Given the description of an element on the screen output the (x, y) to click on. 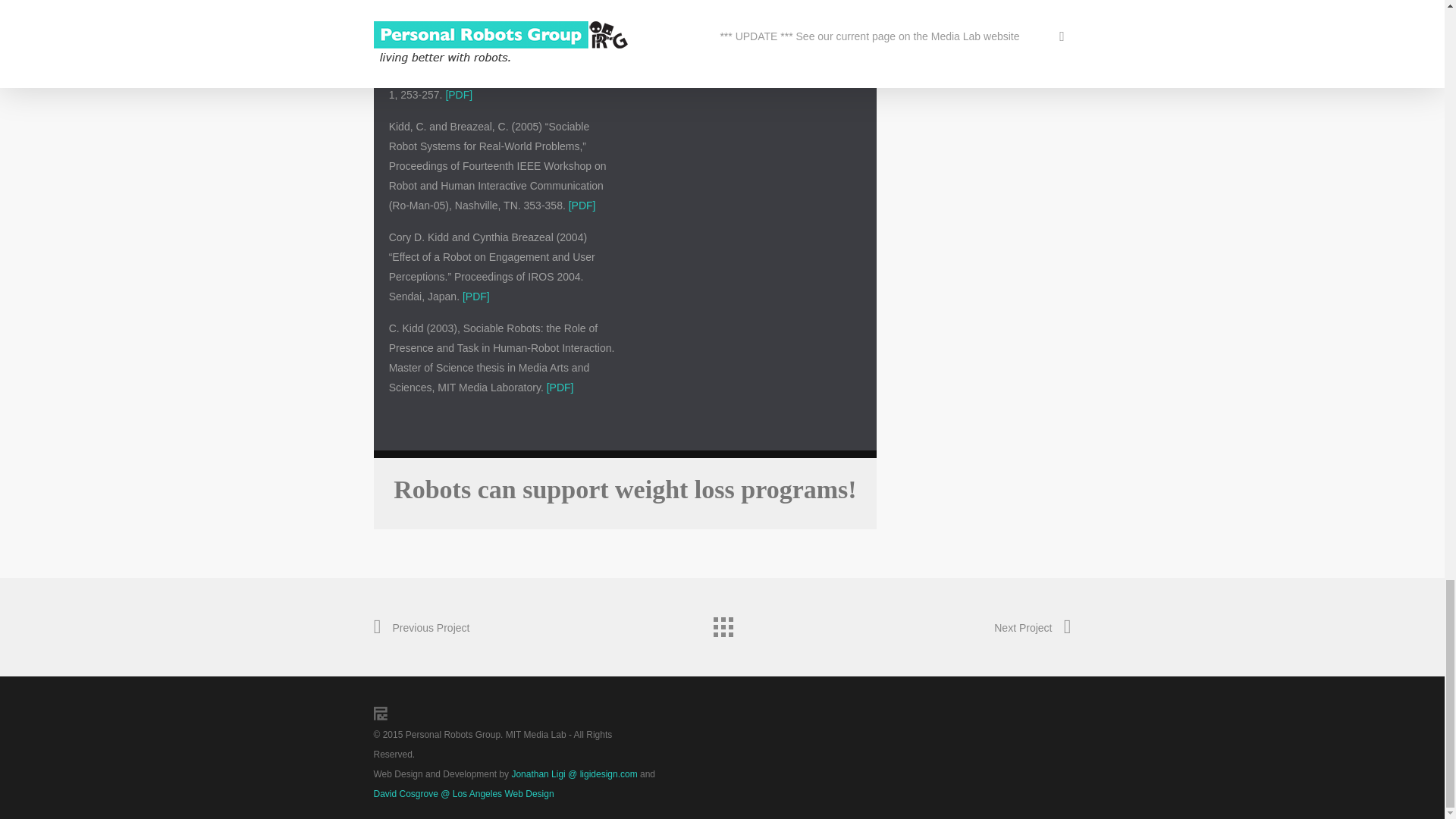
Back to all projects (721, 623)
Next Project (1032, 627)
Previous Project (420, 627)
